Given the description of an element on the screen output the (x, y) to click on. 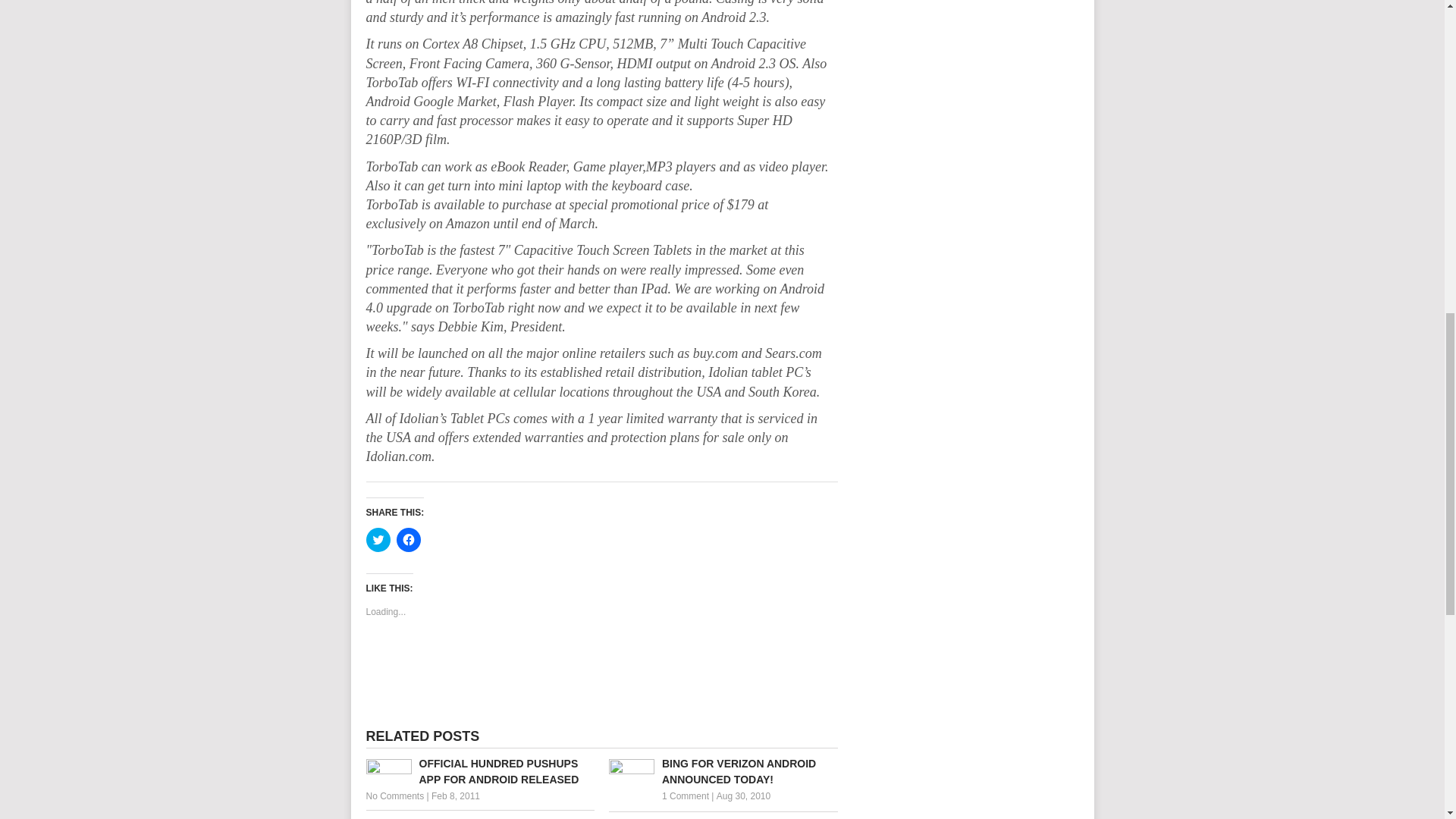
No Comments (394, 796)
BING FOR VERIZON ANDROID ANNOUNCED TODAY! (723, 771)
Click to share on Twitter (377, 539)
Bing for Verizon Android Announced Today! (723, 771)
Click to share on Facebook (408, 539)
1 Comment (685, 796)
Official Hundred Pushups App For Android Released (479, 771)
OFFICIAL HUNDRED PUSHUPS APP FOR ANDROID RELEASED (479, 771)
